Given the description of an element on the screen output the (x, y) to click on. 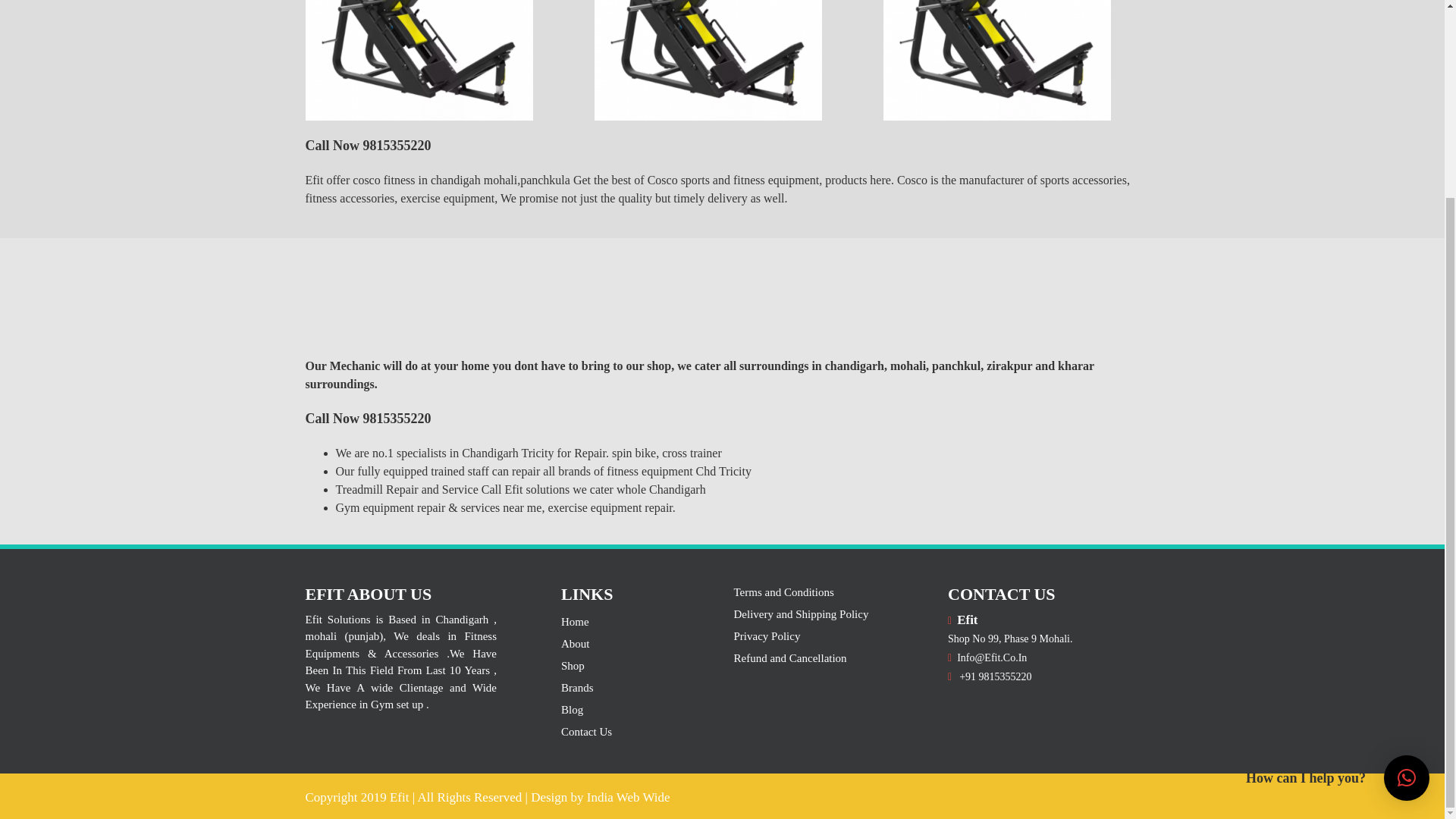
saleimg (996, 60)
saleimg (418, 60)
saleimg (708, 60)
